Given the description of an element on the screen output the (x, y) to click on. 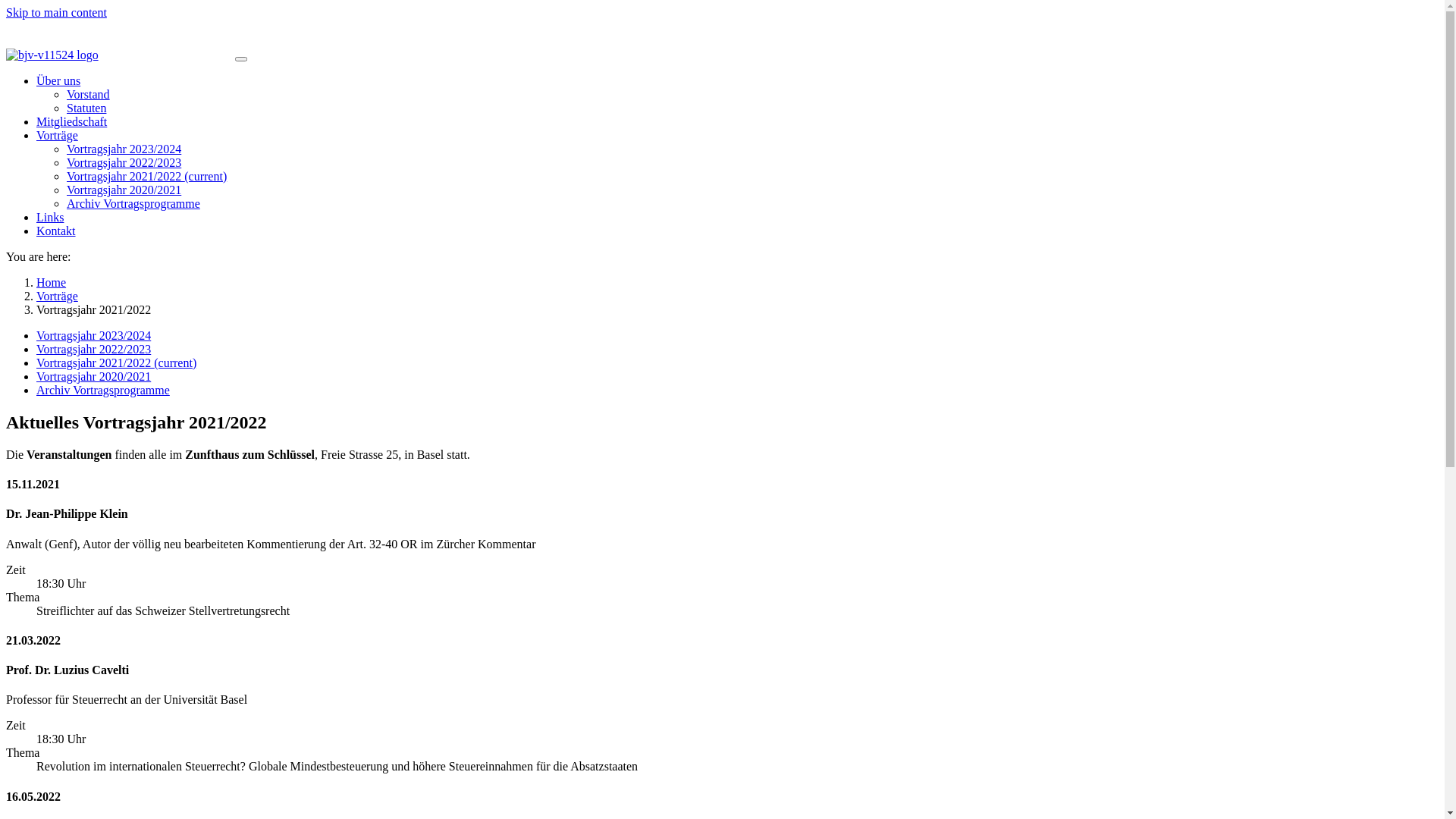
Home Element type: text (50, 282)
Vortragsjahr 2021/2022 (current) Element type: text (146, 175)
Statuten Element type: text (86, 107)
Vortragsjahr 2023/2024 Element type: text (123, 148)
Vortragsjahr 2020/2021 Element type: text (123, 189)
Links Element type: text (49, 216)
Archiv Vortragsprogramme Element type: text (133, 203)
Vorstand Element type: text (87, 93)
Vortragsjahr 2020/2021 Element type: text (93, 376)
Vortragsjahr 2022/2023 Element type: text (123, 162)
Vortragsjahr 2021/2022 (current) Element type: text (116, 362)
Vortragsjahr 2023/2024 Element type: text (93, 335)
Mitgliedschaft Element type: text (71, 121)
Archiv Vortragsprogramme Element type: text (102, 389)
Vortragsjahr 2022/2023 Element type: text (93, 348)
Skip to main content Element type: text (56, 12)
Kontakt Element type: text (55, 230)
